Given the description of an element on the screen output the (x, y) to click on. 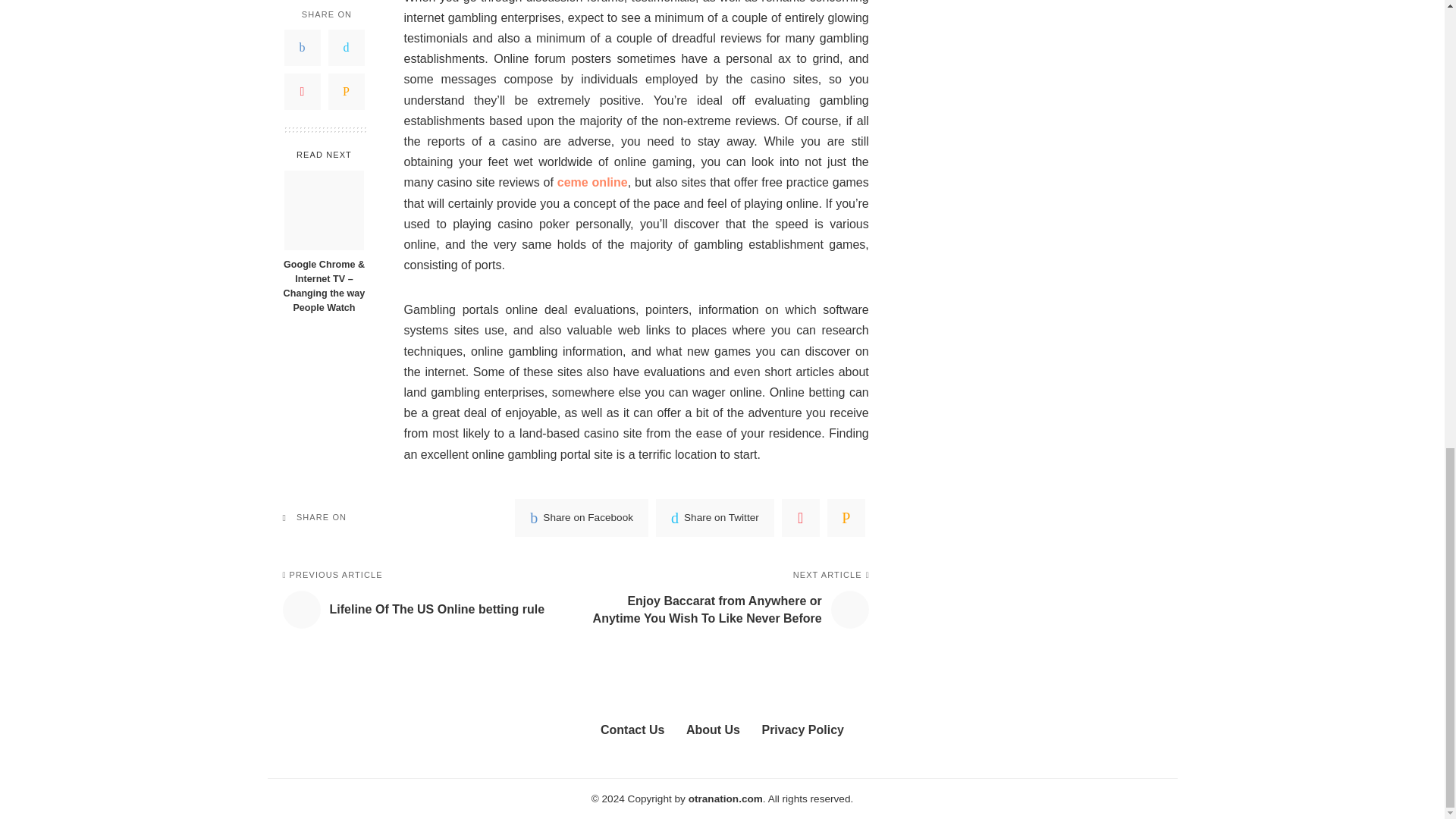
ceme online (592, 182)
Twitter (715, 517)
Facebook (581, 517)
Email (845, 517)
Pinterest (800, 517)
Share on Facebook (581, 517)
